Given the description of an element on the screen output the (x, y) to click on. 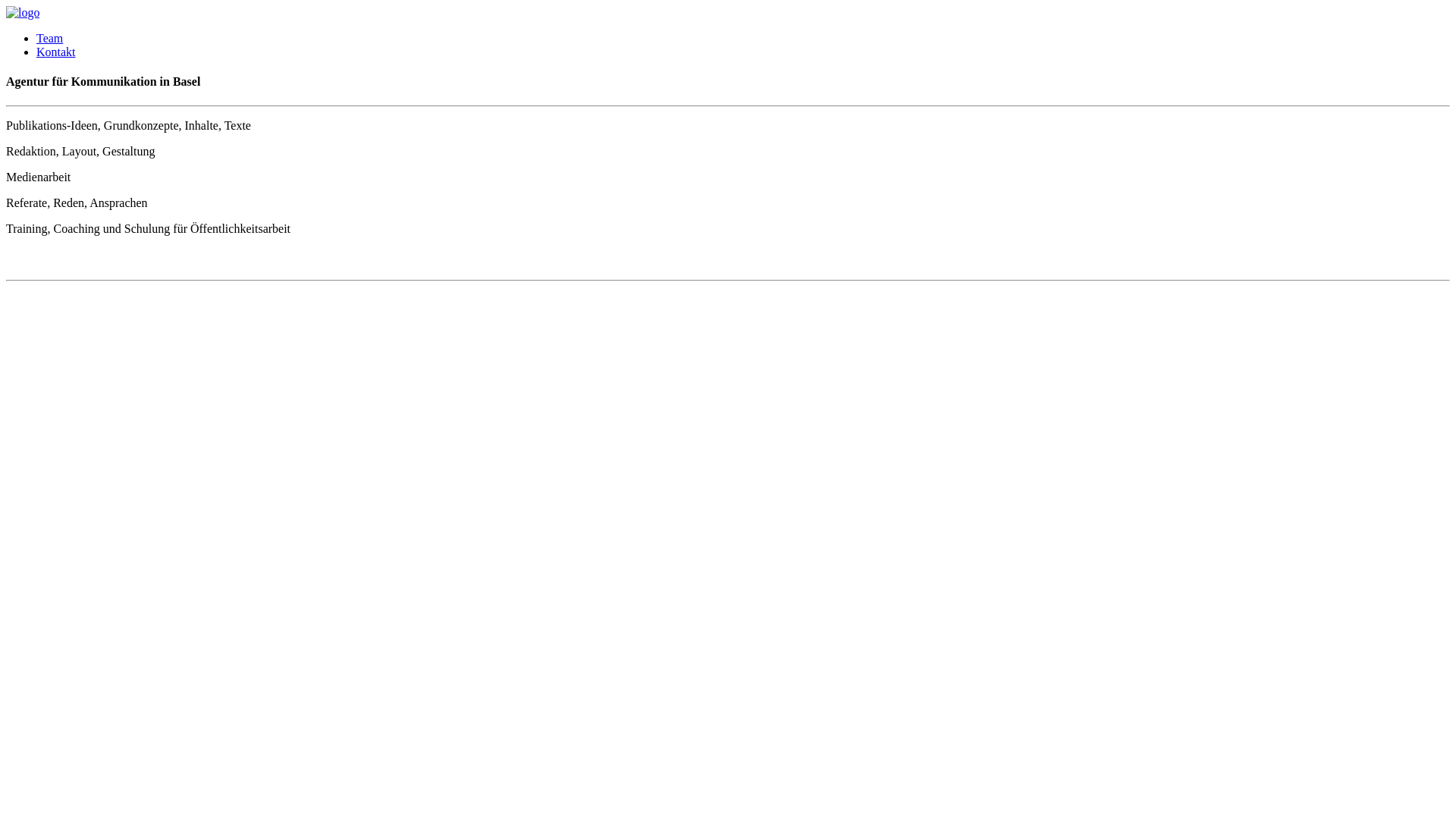
Team Element type: text (49, 37)
Kontakt Element type: text (55, 51)
